Given the description of an element on the screen output the (x, y) to click on. 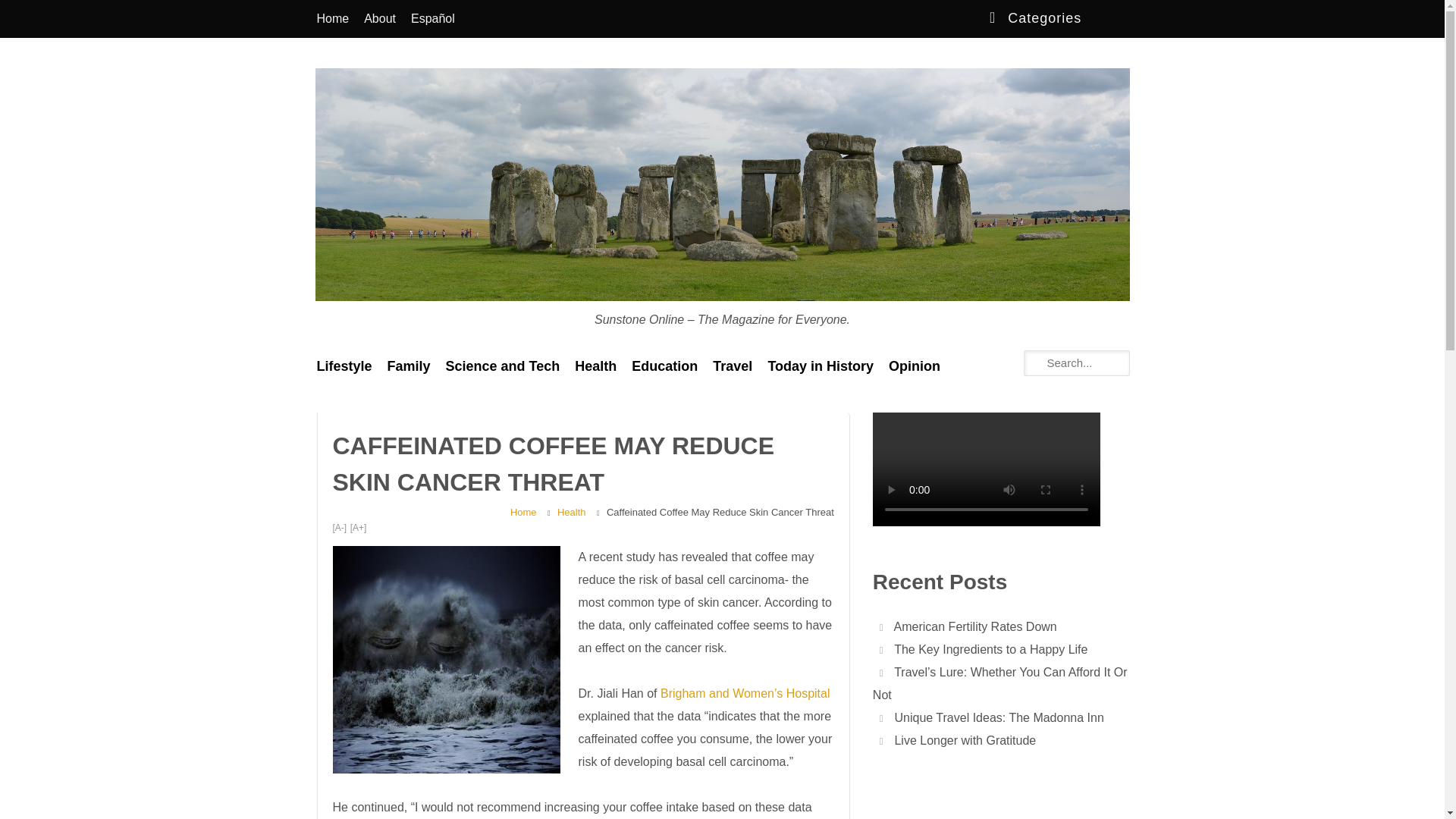
Health (595, 366)
Today in History (820, 366)
Education (664, 366)
Home (524, 512)
About (379, 18)
Sunstone Online (363, 330)
Opinion (913, 366)
Home (332, 18)
Increase Font Size (358, 528)
Search (23, 12)
